Given the description of an element on the screen output the (x, y) to click on. 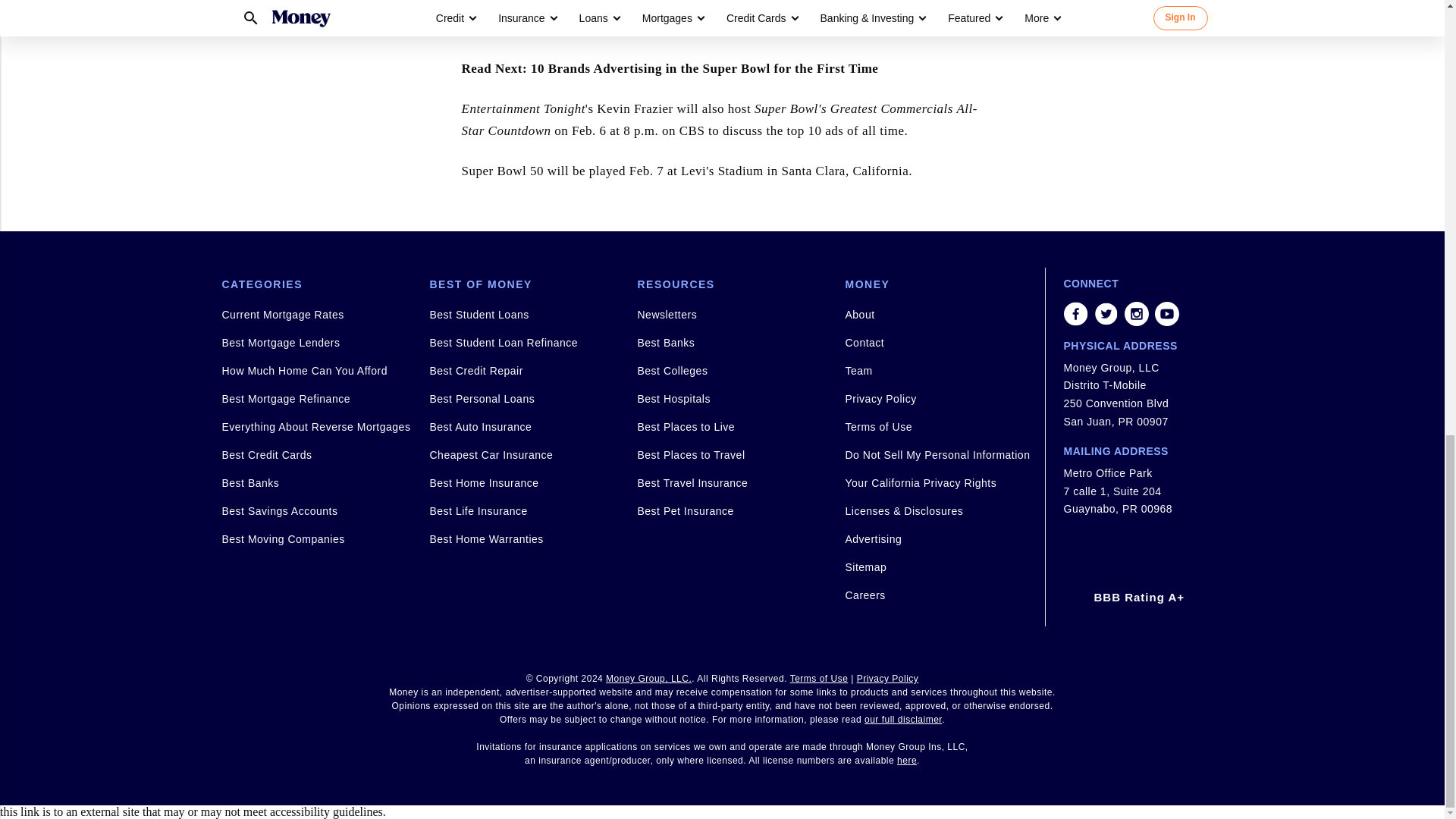
youtube share (1165, 313)
facebook share (1074, 313)
twitter share (1105, 313)
instagram share (1136, 313)
